Given the description of an element on the screen output the (x, y) to click on. 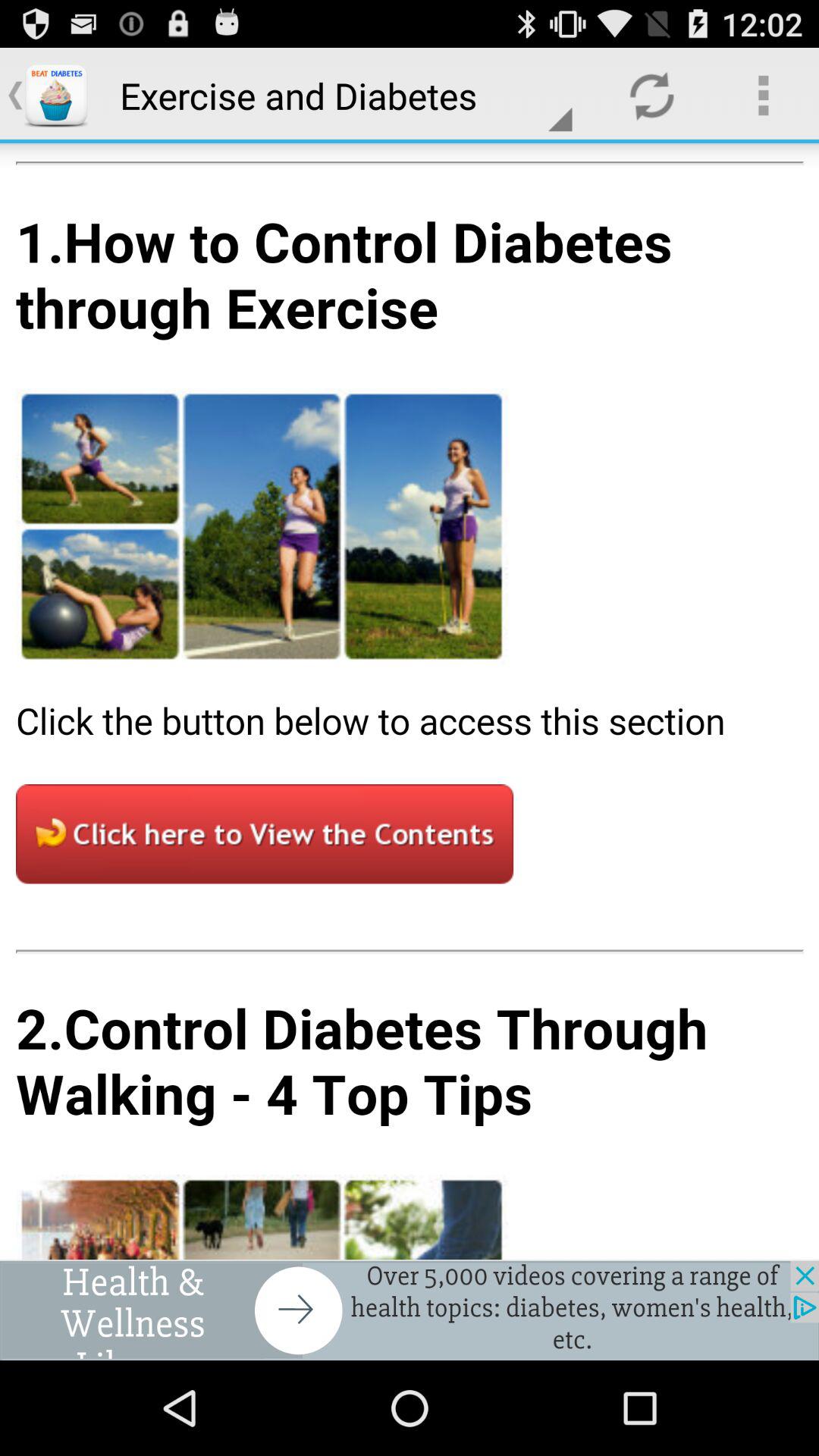
see the picture (409, 701)
